Given the description of an element on the screen output the (x, y) to click on. 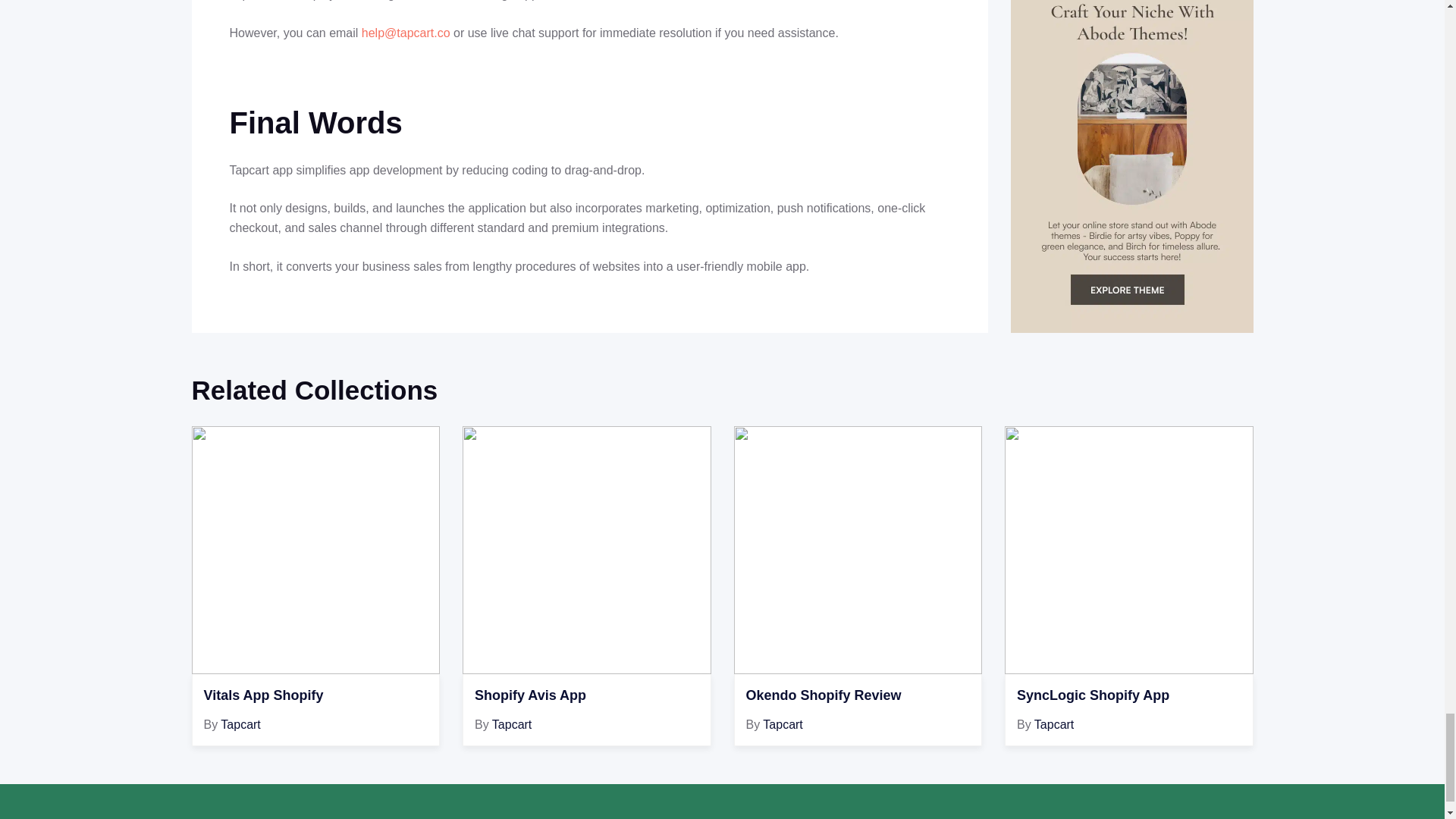
Tapcart (240, 724)
Shopify Avis App (586, 695)
Tapcart (511, 724)
Vitals App Shopify (315, 695)
Okendo Shopify Review (858, 695)
